Given the description of an element on the screen output the (x, y) to click on. 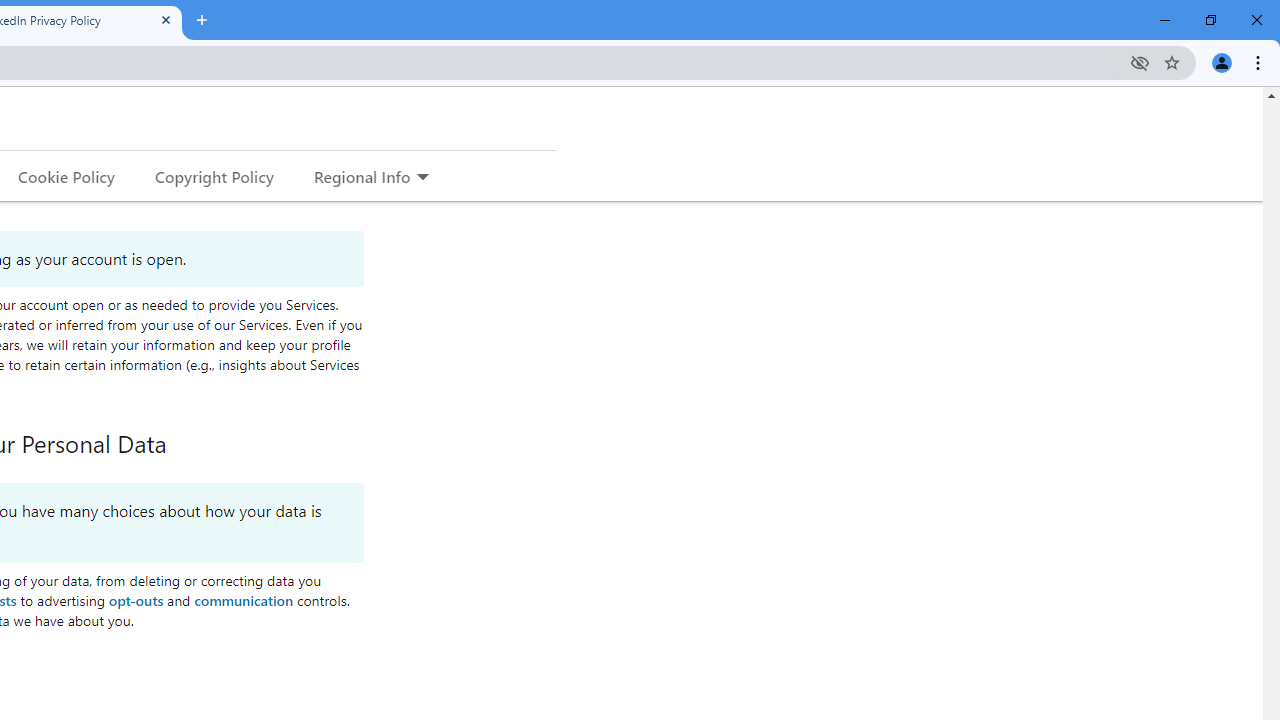
Cookie Policy (66, 176)
Regional Info (361, 176)
communication (244, 599)
Expand to show more links for Regional Info (422, 178)
opt-outs (135, 599)
Copyright Policy (213, 176)
